Given the description of an element on the screen output the (x, y) to click on. 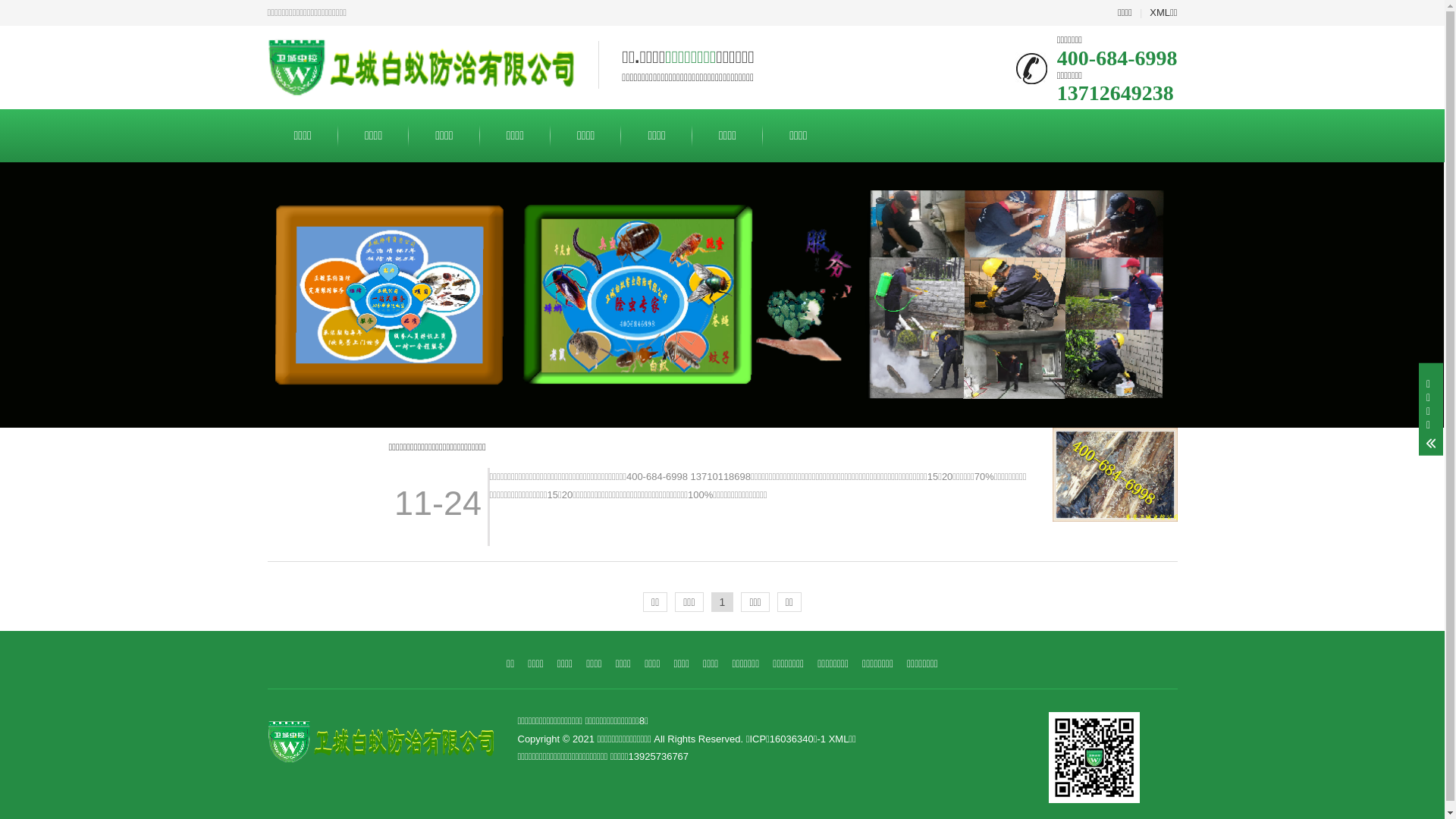
1 Element type: text (722, 601)
